Given the description of an element on the screen output the (x, y) to click on. 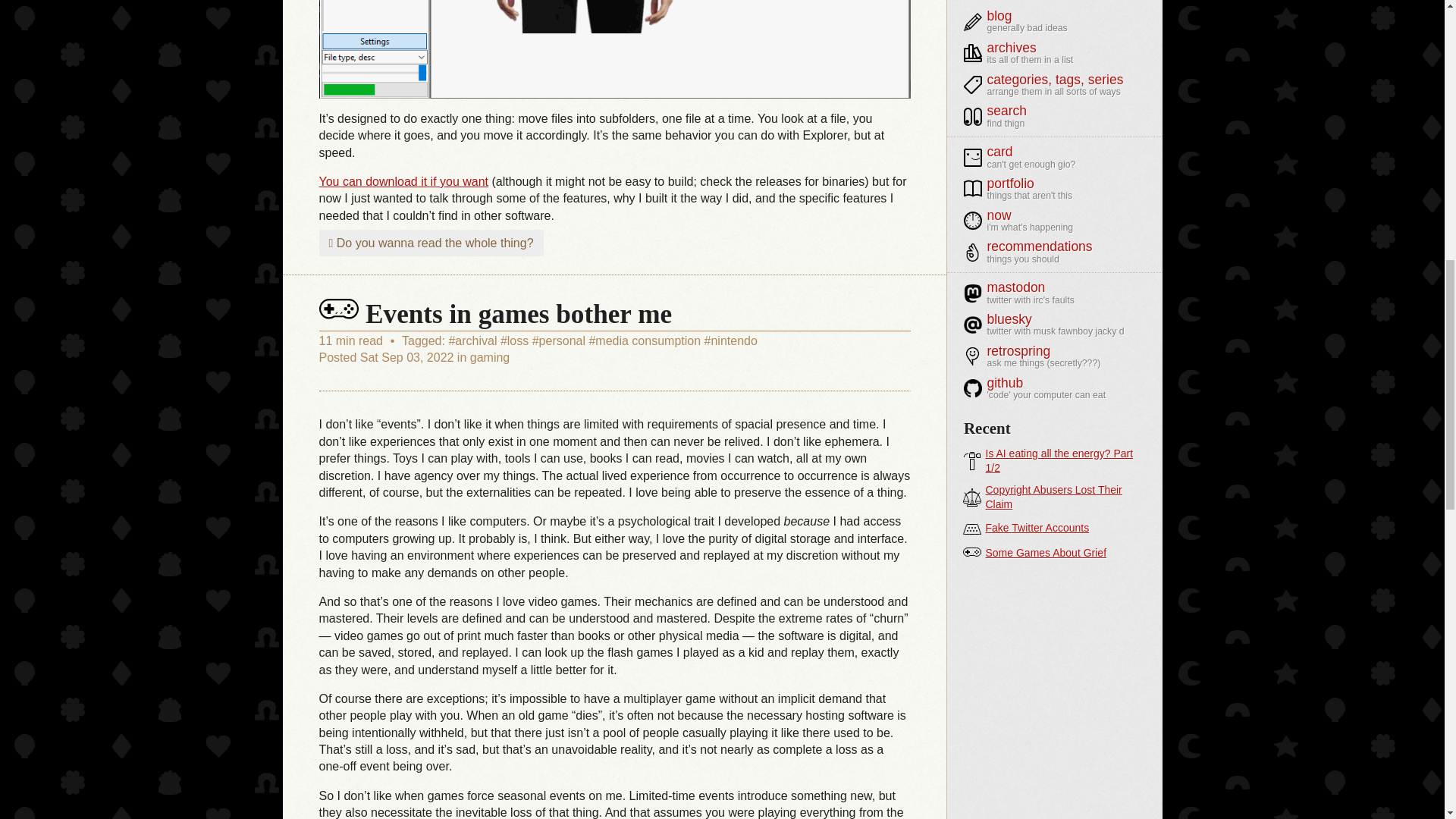
3260 words at 250 wpm (351, 340)
Events in games bother me (494, 314)
You can download it if you want (402, 181)
